Given the description of an element on the screen output the (x, y) to click on. 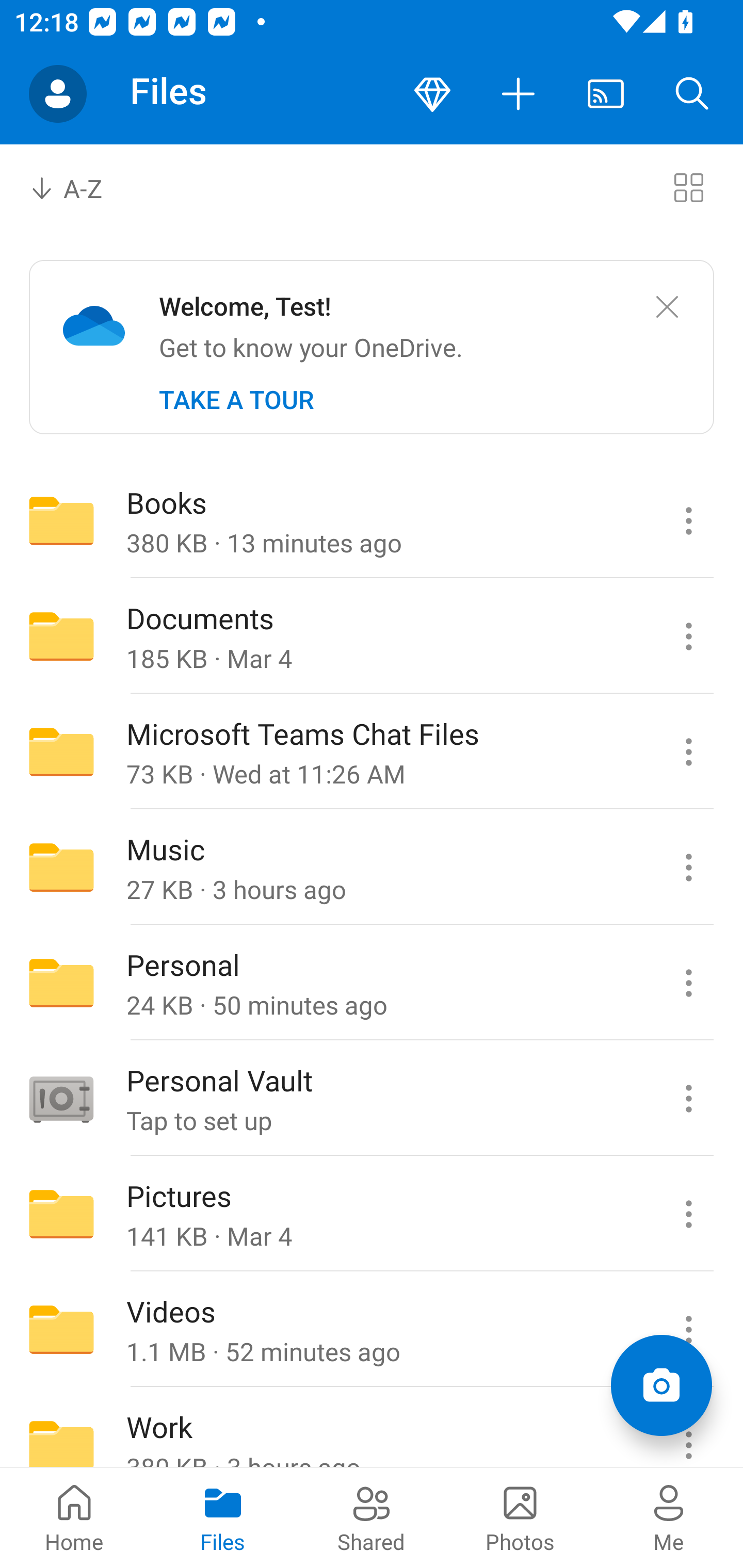
Account switcher (57, 93)
Cast. Disconnected (605, 93)
Premium button (432, 93)
More actions button (518, 93)
Search button (692, 93)
A-Z Sort by combo box, sort by name, A to Z (80, 187)
Switch to tiles view (688, 187)
Close (667, 307)
TAKE A TOUR (236, 399)
Books commands (688, 520)
Folder Documents 185 KB · Mar 4 Documents commands (371, 636)
Documents commands (688, 636)
Microsoft Teams Chat Files commands (688, 751)
Folder Music 27 KB · 3 hours ago Music commands (371, 867)
Music commands (688, 867)
Personal commands (688, 983)
Personal Vault commands (688, 1099)
Folder Pictures 141 KB · Mar 4 Pictures commands (371, 1214)
Pictures commands (688, 1214)
Videos commands (688, 1329)
Add items Scan (660, 1385)
Folder Work 380 KB · 3 hours ago Work commands (371, 1427)
Work commands (688, 1427)
Home pivot Home (74, 1517)
Shared pivot Shared (371, 1517)
Photos pivot Photos (519, 1517)
Me pivot Me (668, 1517)
